Given the description of an element on the screen output the (x, y) to click on. 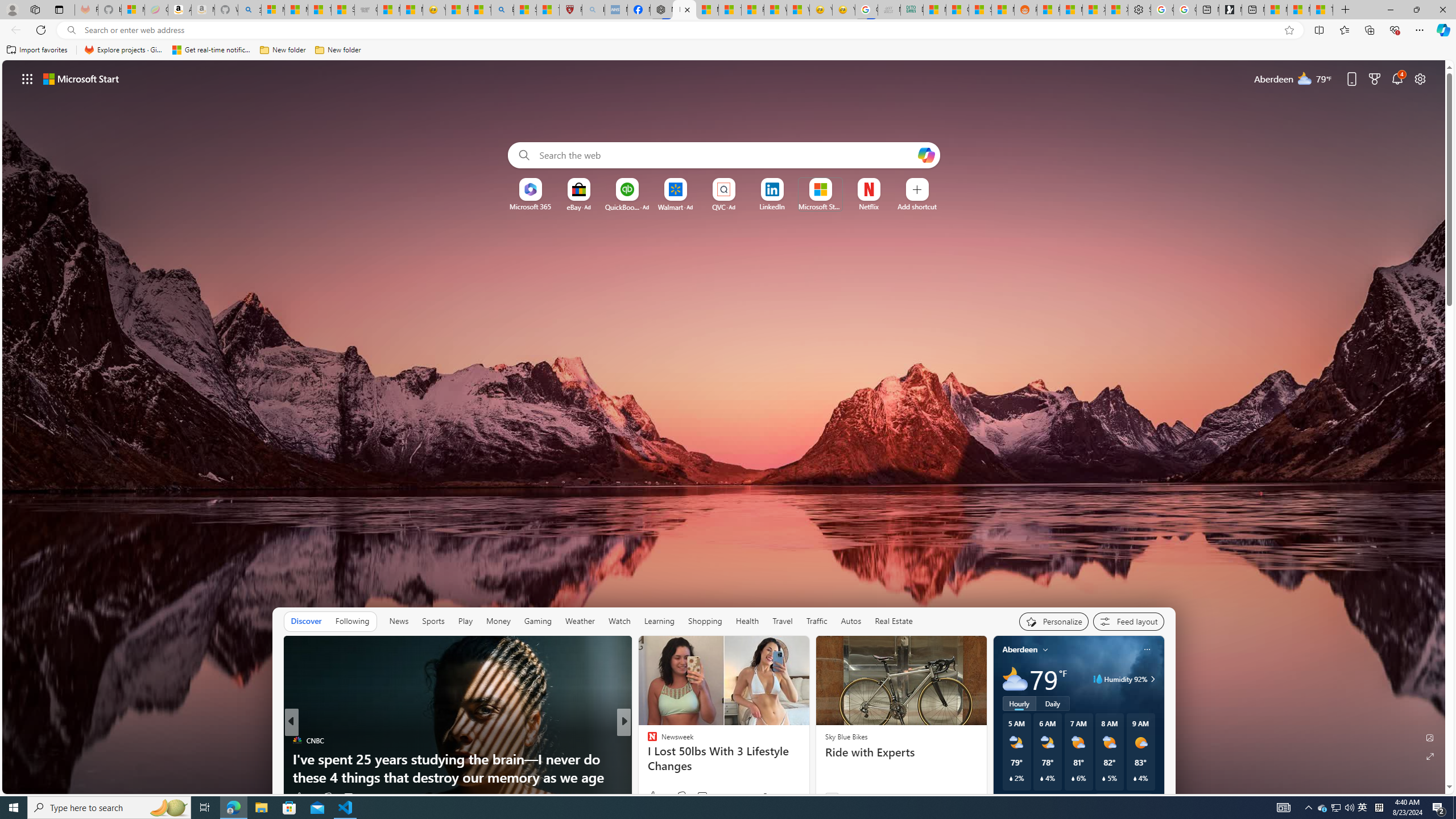
View comments 5 Comment (702, 796)
View comments 173 Comment (701, 795)
138 Like (654, 796)
59 Like (652, 796)
View comments 35 Comment (703, 797)
Page settings (1420, 78)
More Options (886, 182)
Body Network (647, 740)
